Given the description of an element on the screen output the (x, y) to click on. 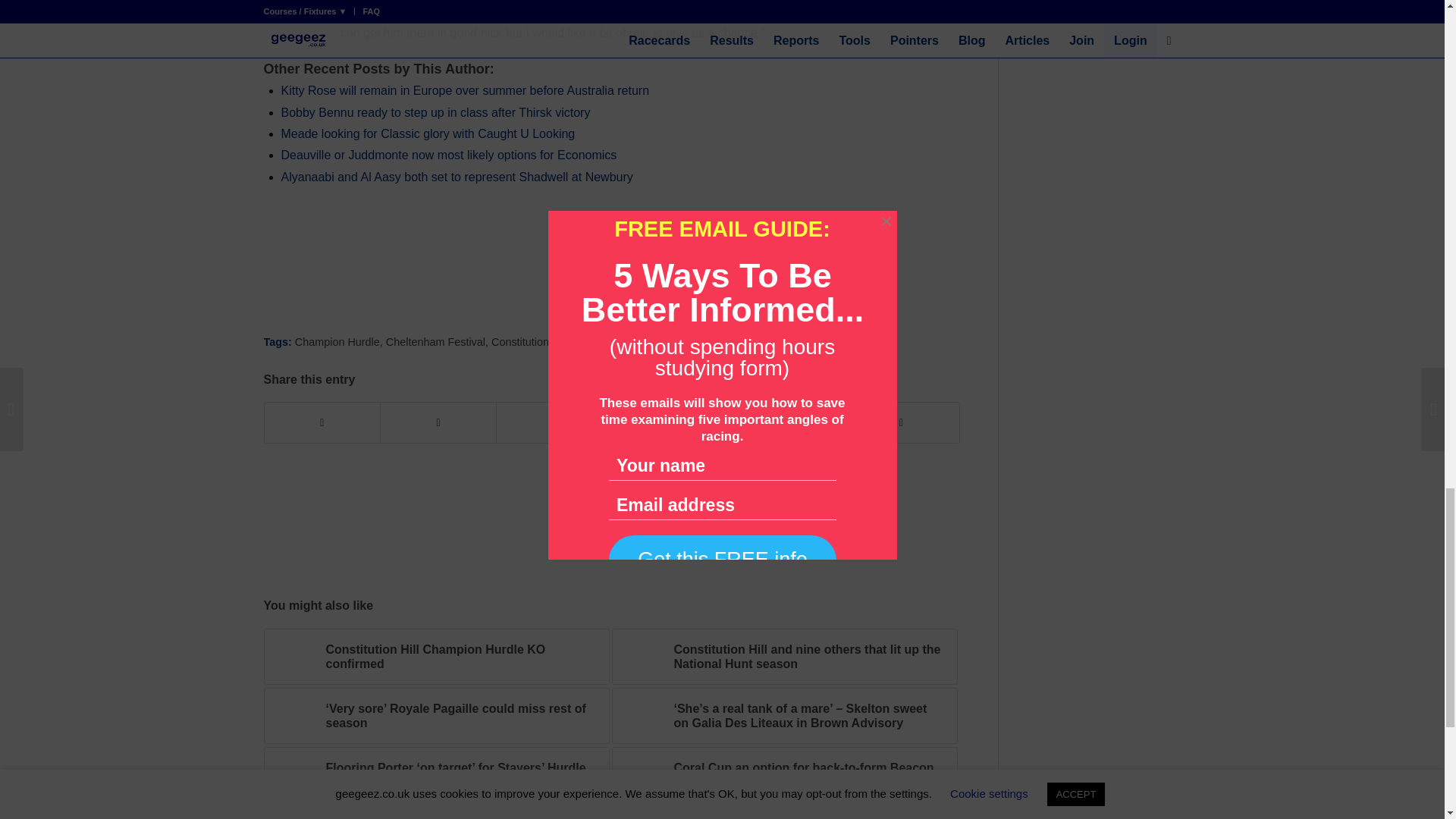
Constitution Hill Champion Hurdle KO confirmed (436, 656)
